Given the description of an element on the screen output the (x, y) to click on. 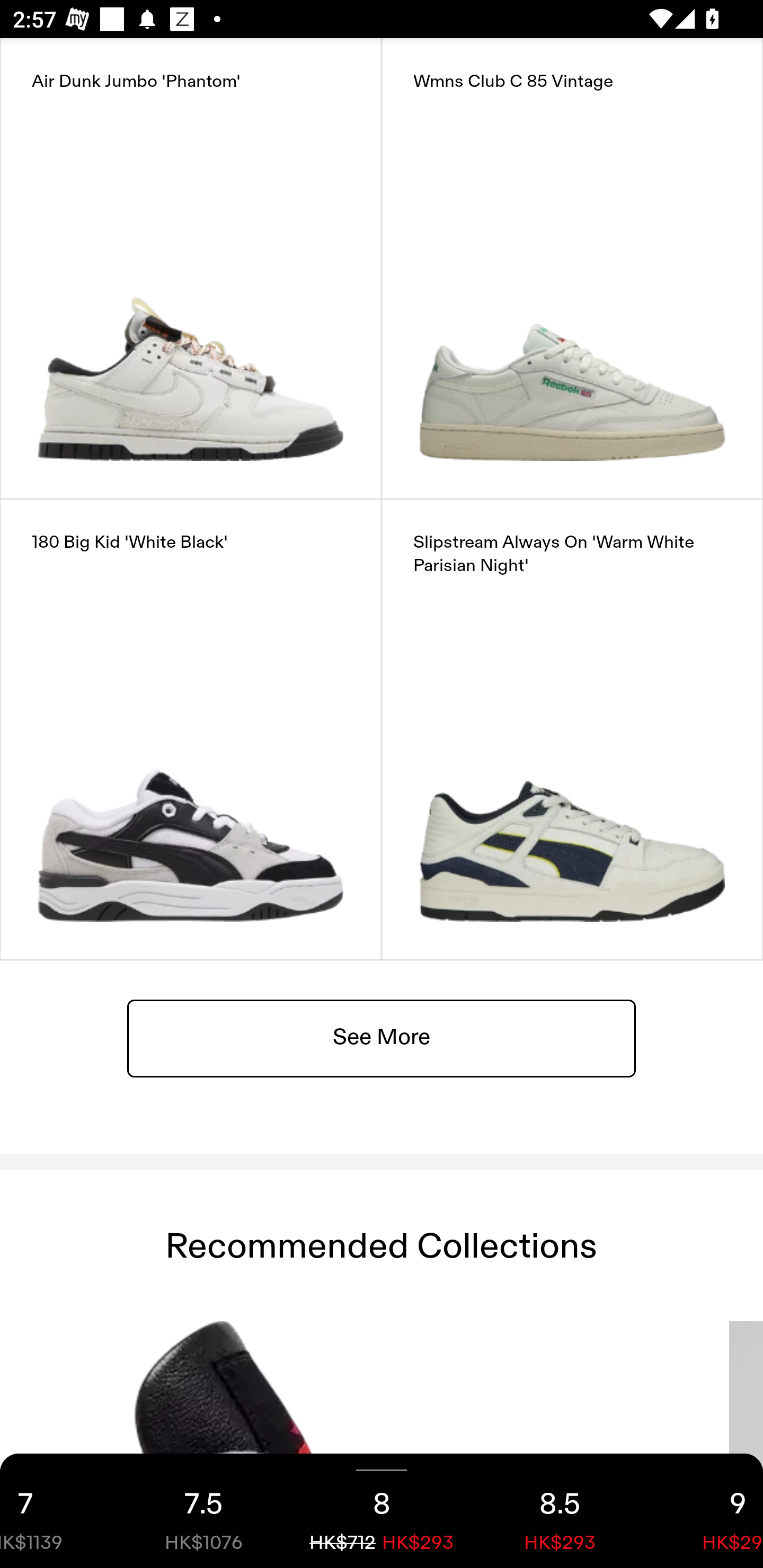
Air Dunk Jumbo 'Phantom' (190, 267)
Wmns Club C 85 Vintage (572, 267)
180 Big Kid 'White Black' (190, 728)
Slipstream Always On 'Warm White Parisian Night' (572, 728)
See More (381, 1037)
7 HK$1139 (57, 1510)
7.5 HK$1076 (203, 1510)
8 HK$712 HK$293 (381, 1510)
8.5 HK$293 (559, 1510)
9 HK$293 (705, 1510)
